Given the description of an element on the screen output the (x, y) to click on. 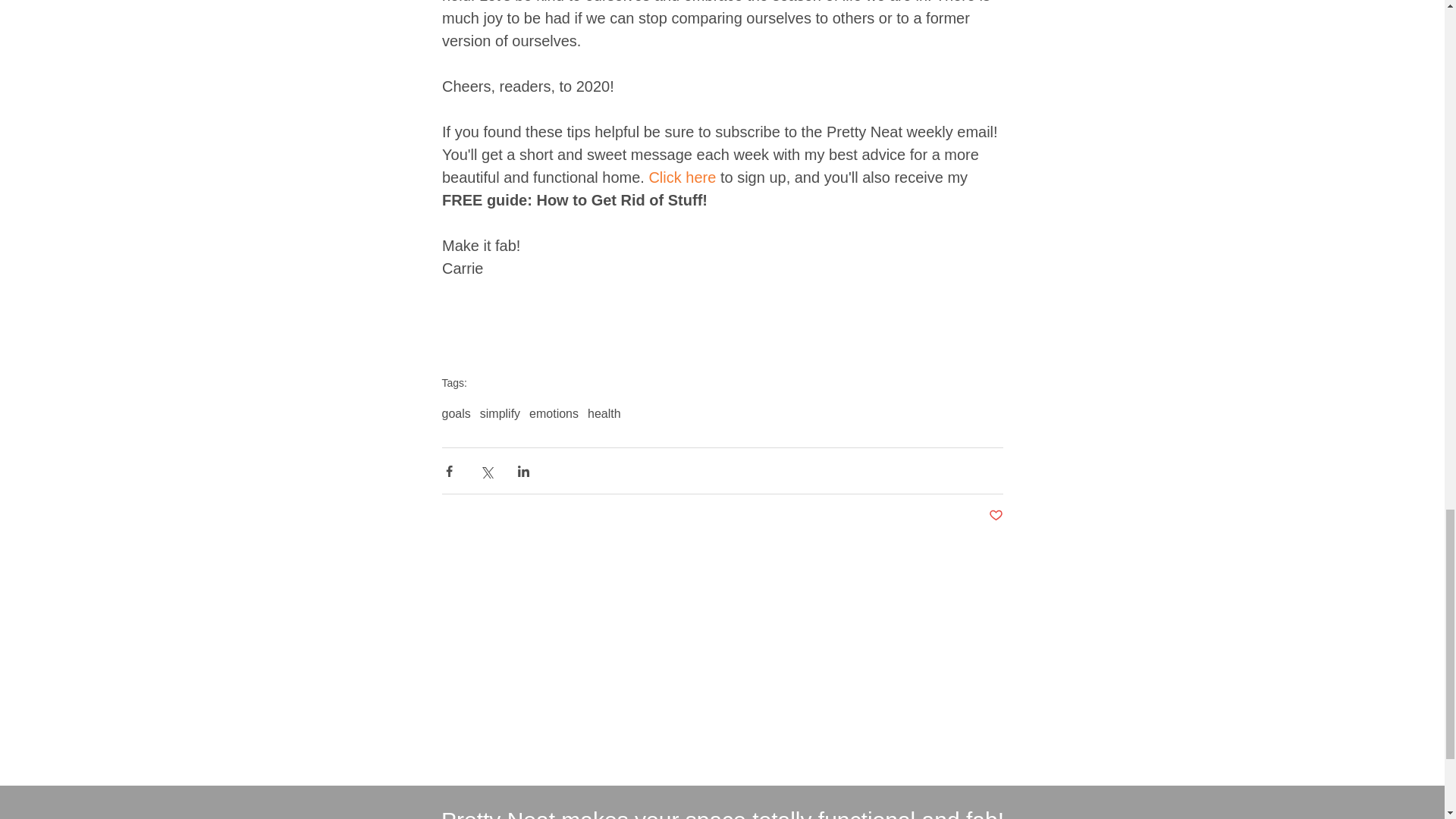
emotions (553, 413)
Post not marked as liked (995, 515)
Click here (681, 176)
simplify (499, 413)
goals (455, 413)
health (604, 413)
